Given the description of an element on the screen output the (x, y) to click on. 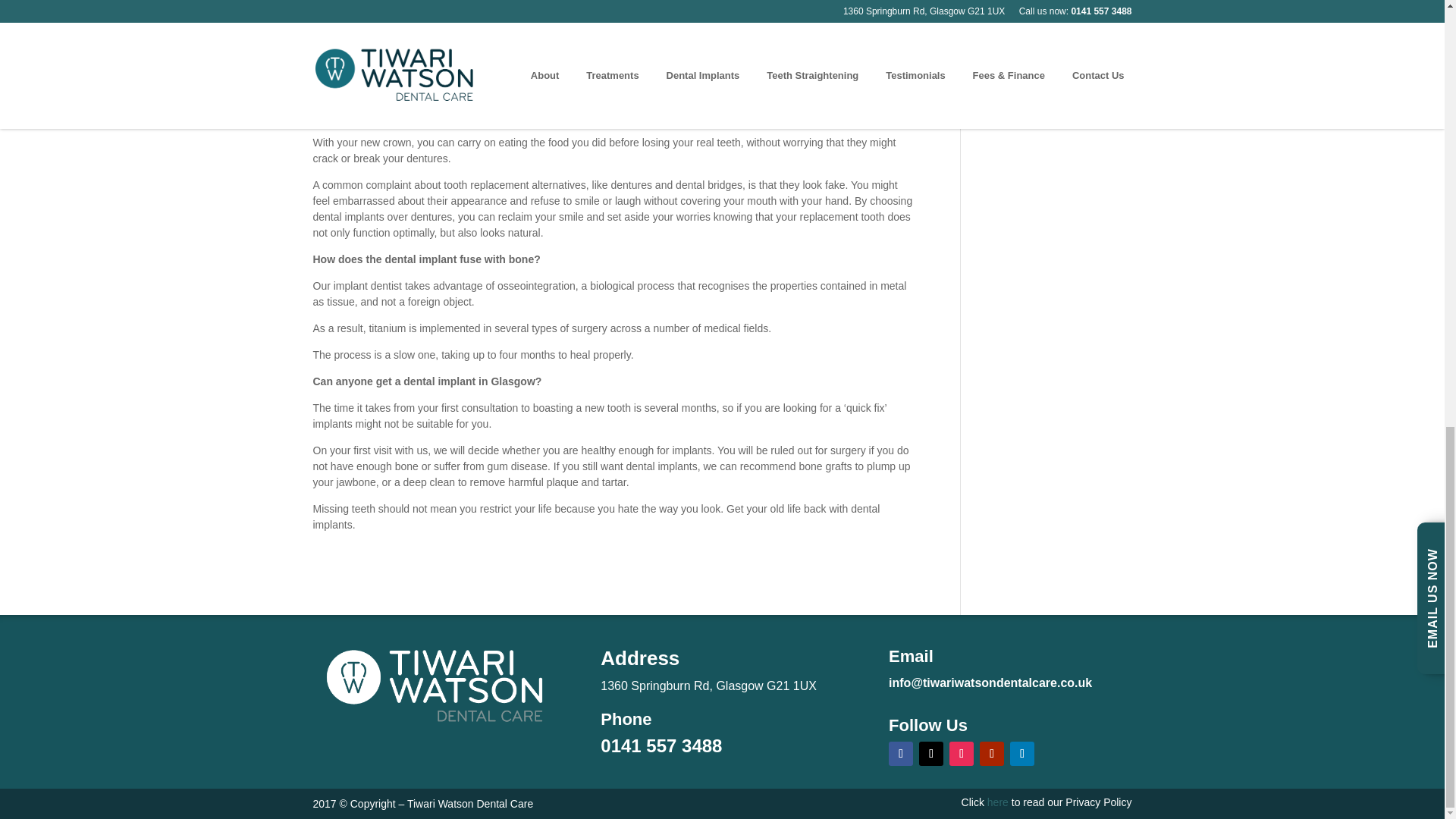
Follow on X (930, 753)
Follow on LinkedIn (1021, 753)
Tiwari-Dental-Logo-White (433, 687)
Follow on Youtube (991, 753)
Follow on Instagram (961, 753)
Follow on Facebook (900, 753)
